Given the description of an element on the screen output the (x, y) to click on. 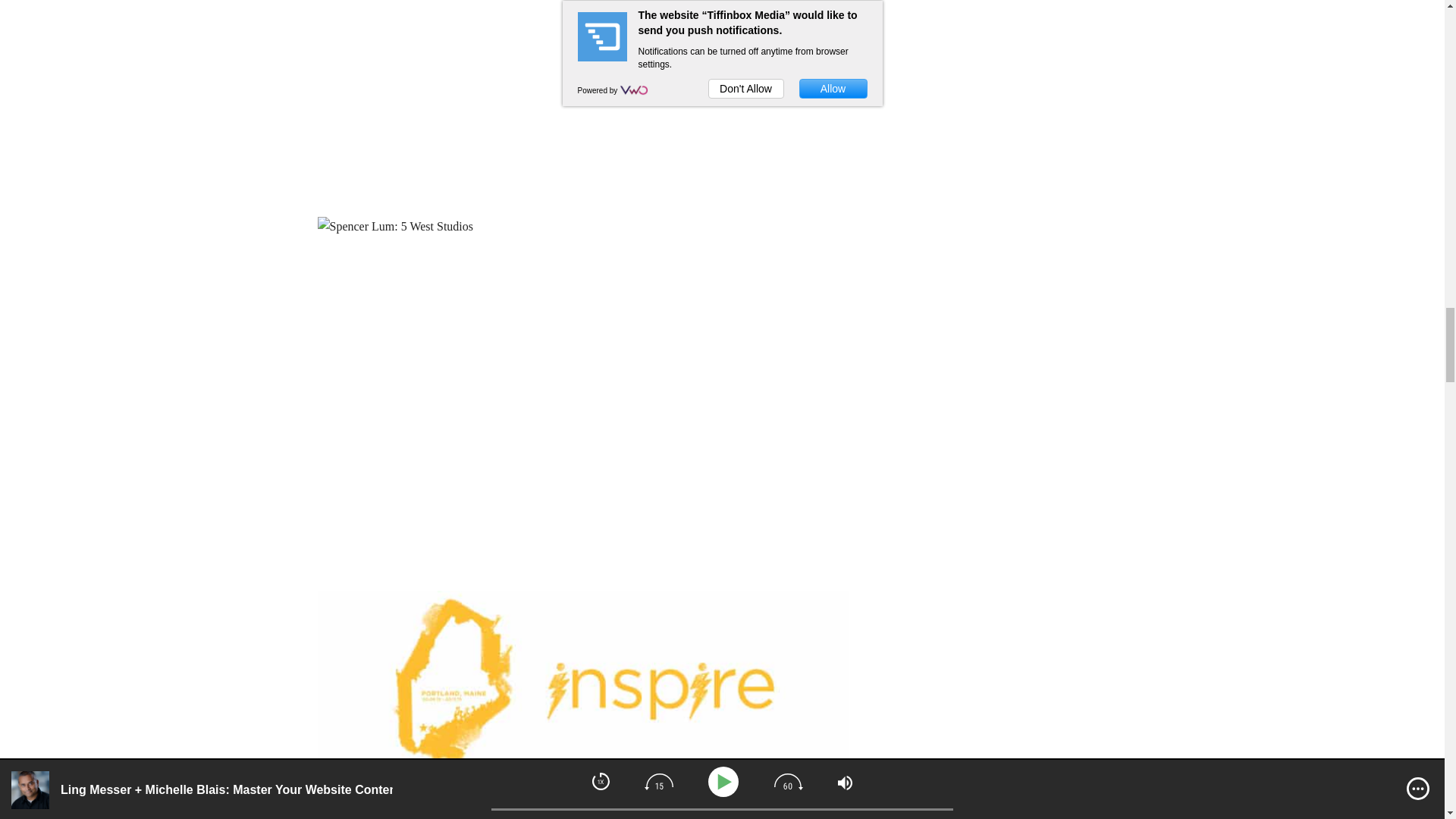
take a look at all the speakers (558, 807)
